Given the description of an element on the screen output the (x, y) to click on. 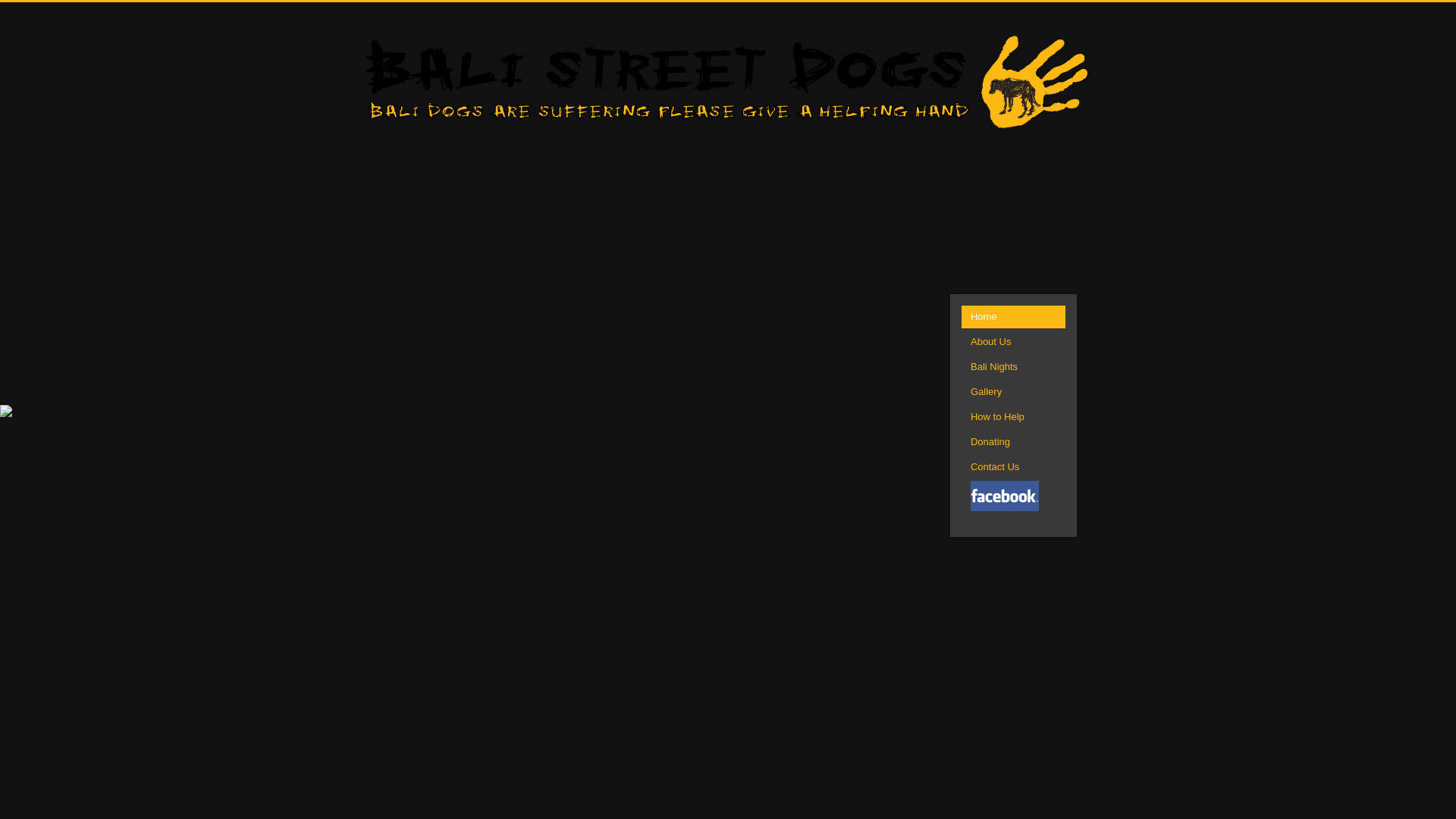
How to Help Element type: text (1013, 416)
Gallery Element type: text (1013, 391)
About Us Element type: text (1013, 341)
Donating Element type: text (1013, 441)
Contact Us Element type: text (1013, 466)
Home Element type: text (1013, 316)
Bali Nights Element type: text (1013, 366)
